Given the description of an element on the screen output the (x, y) to click on. 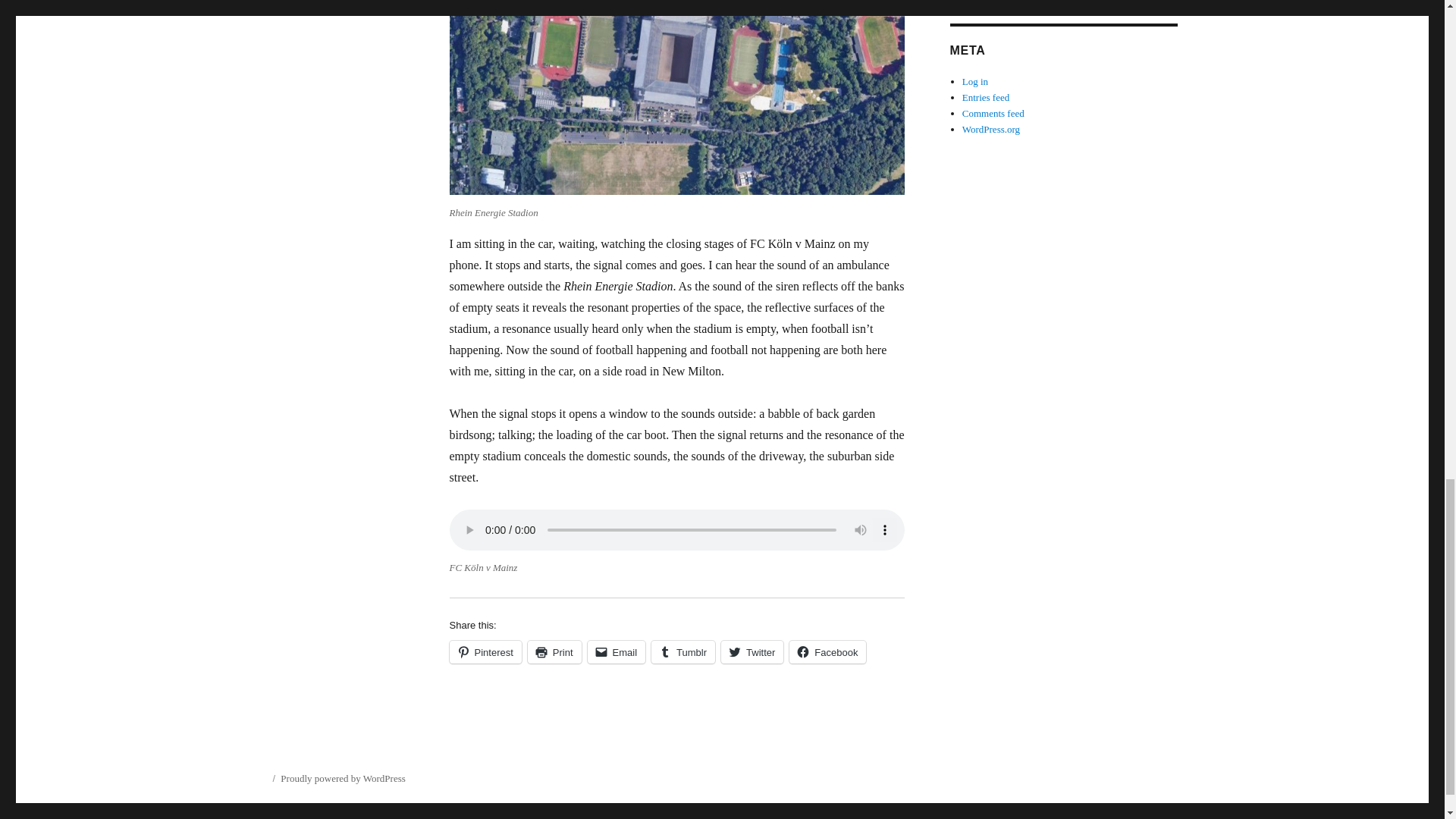
Click to share on Facebook (827, 651)
Click to share on Twitter (751, 651)
Click to print (553, 651)
Click to email a link to a friend (617, 651)
Click to share on Tumblr (682, 651)
Click to share on Pinterest (484, 651)
